Given the description of an element on the screen output the (x, y) to click on. 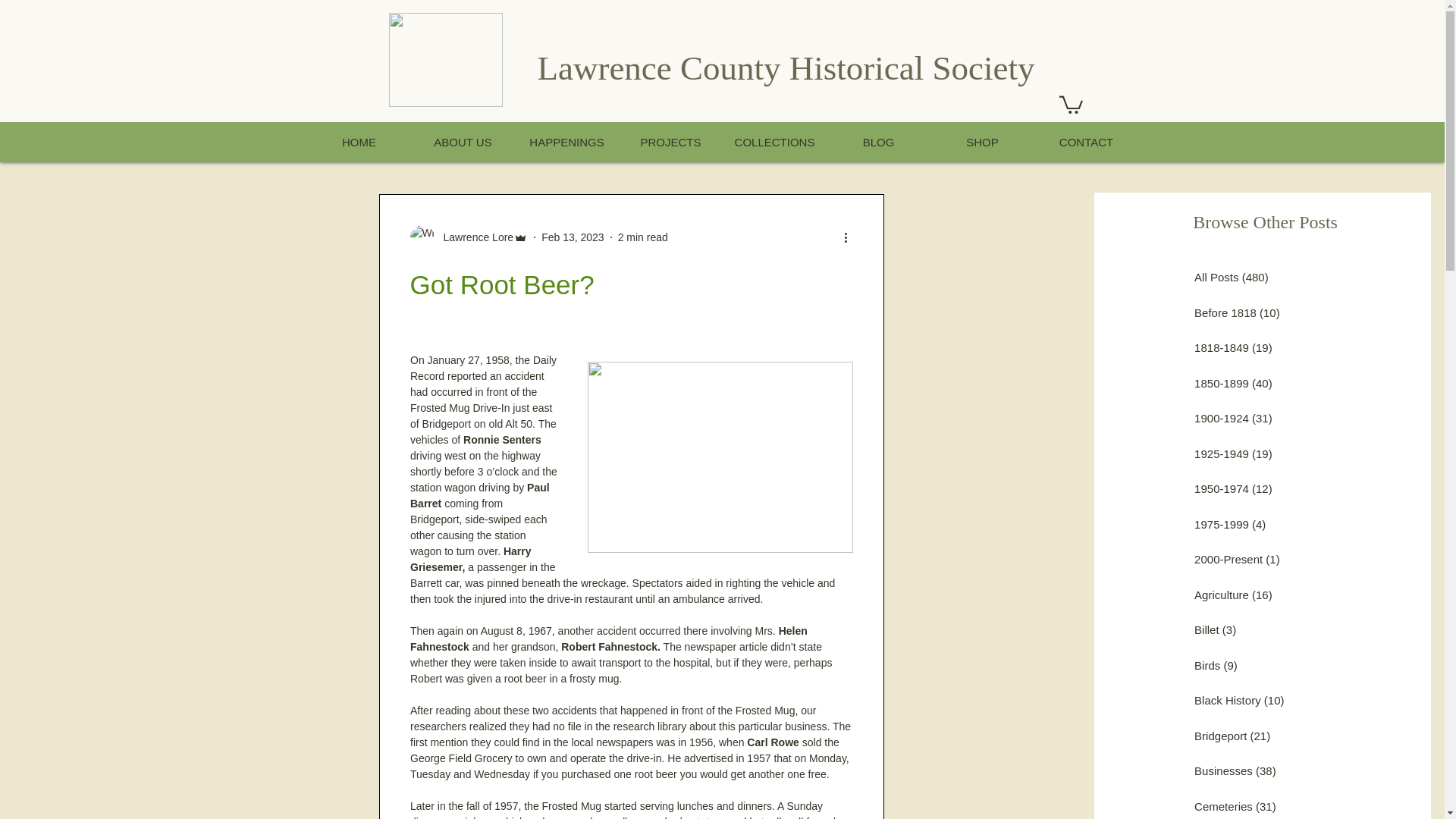
Lawrence Lore (473, 237)
Feb 13, 2023 (572, 236)
2 min read (642, 236)
CONTACT (1085, 142)
Lawrence County (663, 67)
PROJECTS (670, 142)
HOME (357, 142)
COLLECTIONS (773, 142)
Historical Society (912, 67)
BLOG (878, 142)
